Given the description of an element on the screen output the (x, y) to click on. 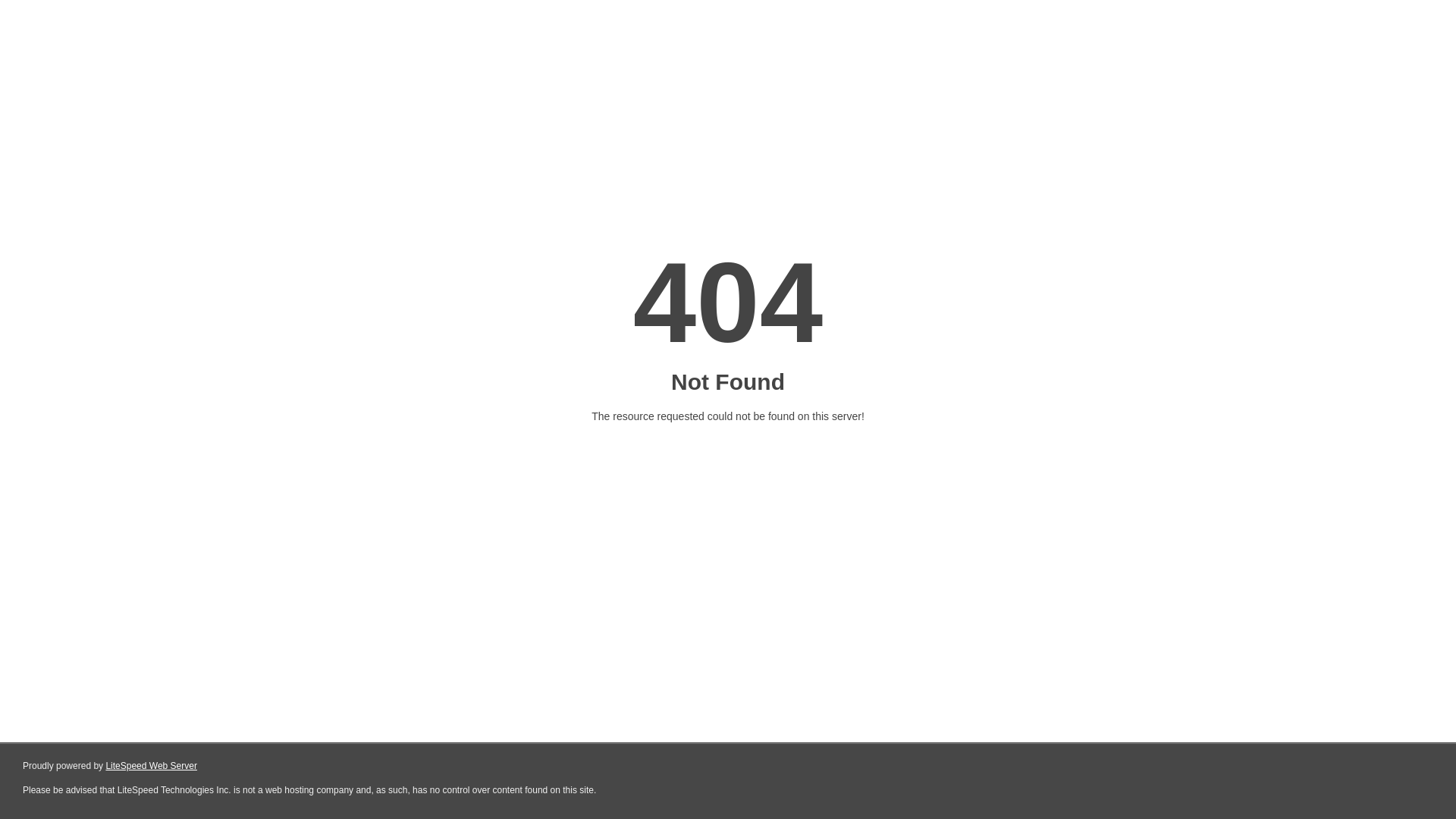
LiteSpeed Web Server Element type: text (151, 765)
